Given the description of an element on the screen output the (x, y) to click on. 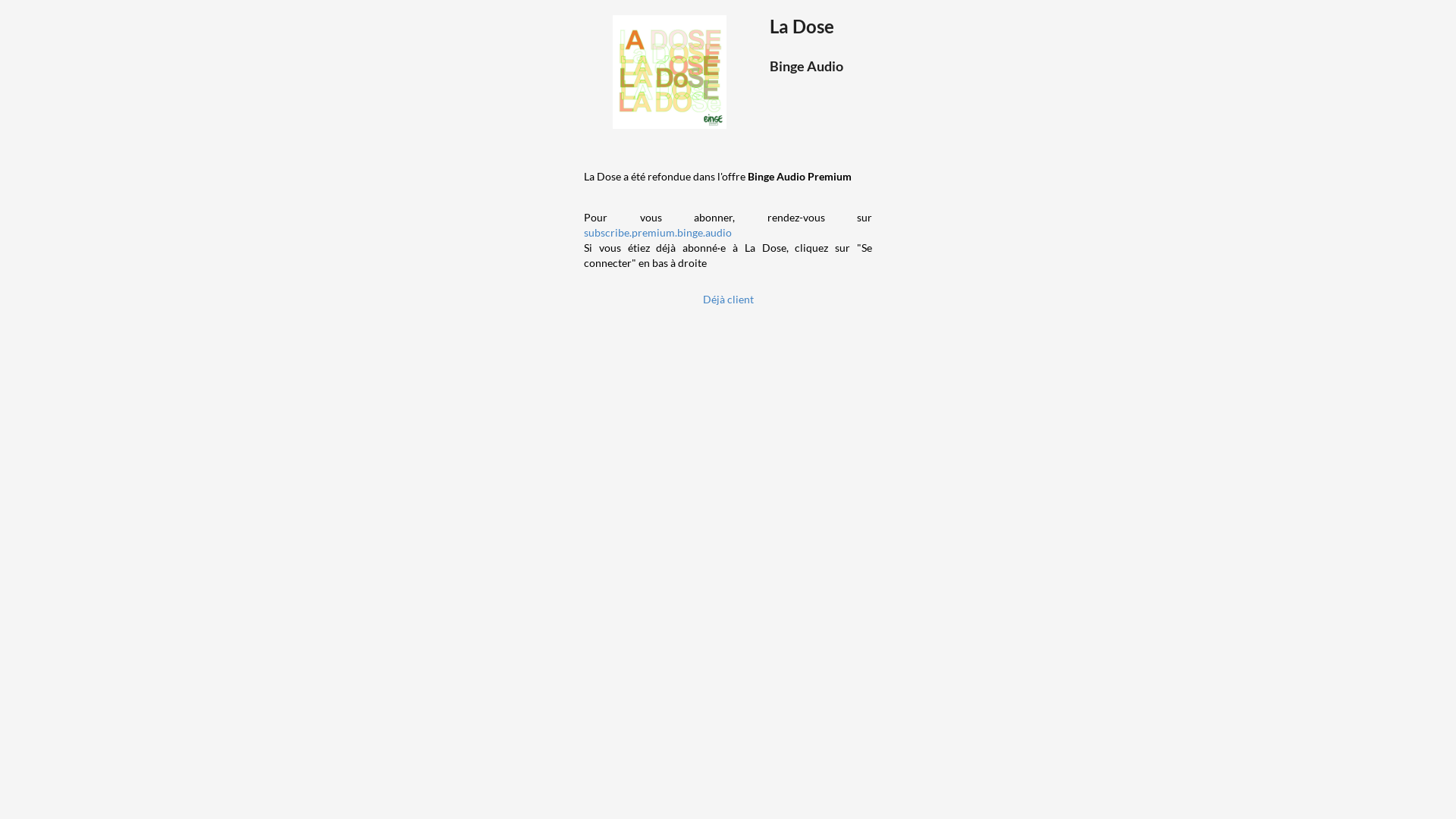
subscribe.premium.binge.audio Element type: text (657, 231)
